Given the description of an element on the screen output the (x, y) to click on. 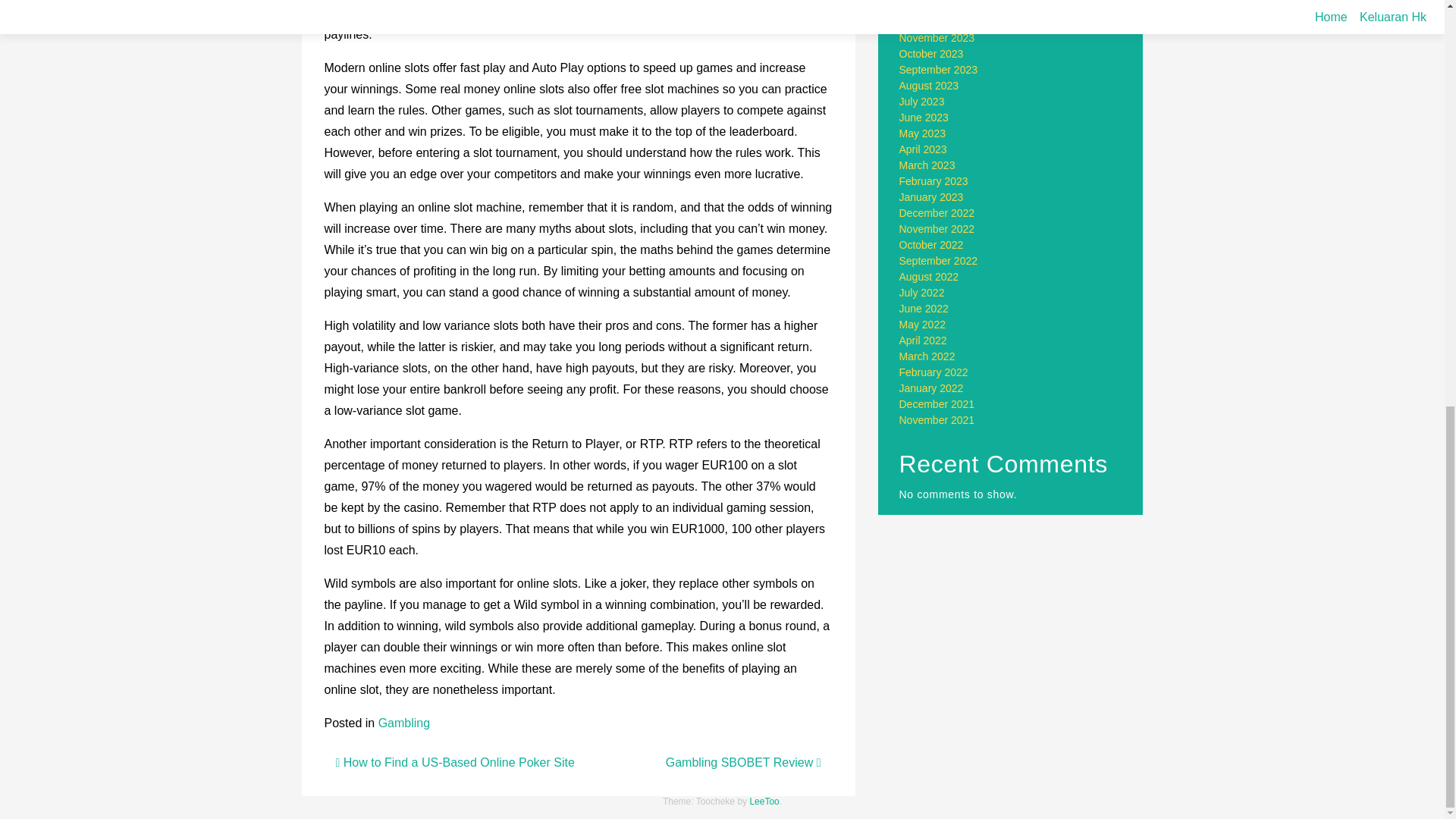
May 2023 (921, 133)
October 2022 (931, 244)
November 2022 (937, 228)
August 2023 (929, 85)
July 2023 (921, 101)
November 2023 (937, 37)
December 2023 (937, 21)
February 2023 (933, 181)
Gambling SBOBET Review  (743, 762)
Gambling (403, 722)
September 2023 (938, 69)
June 2023 (924, 117)
January 2023 (931, 196)
January 2024 (931, 6)
 How to Find a US-Based Online Poker Site (453, 762)
